Given the description of an element on the screen output the (x, y) to click on. 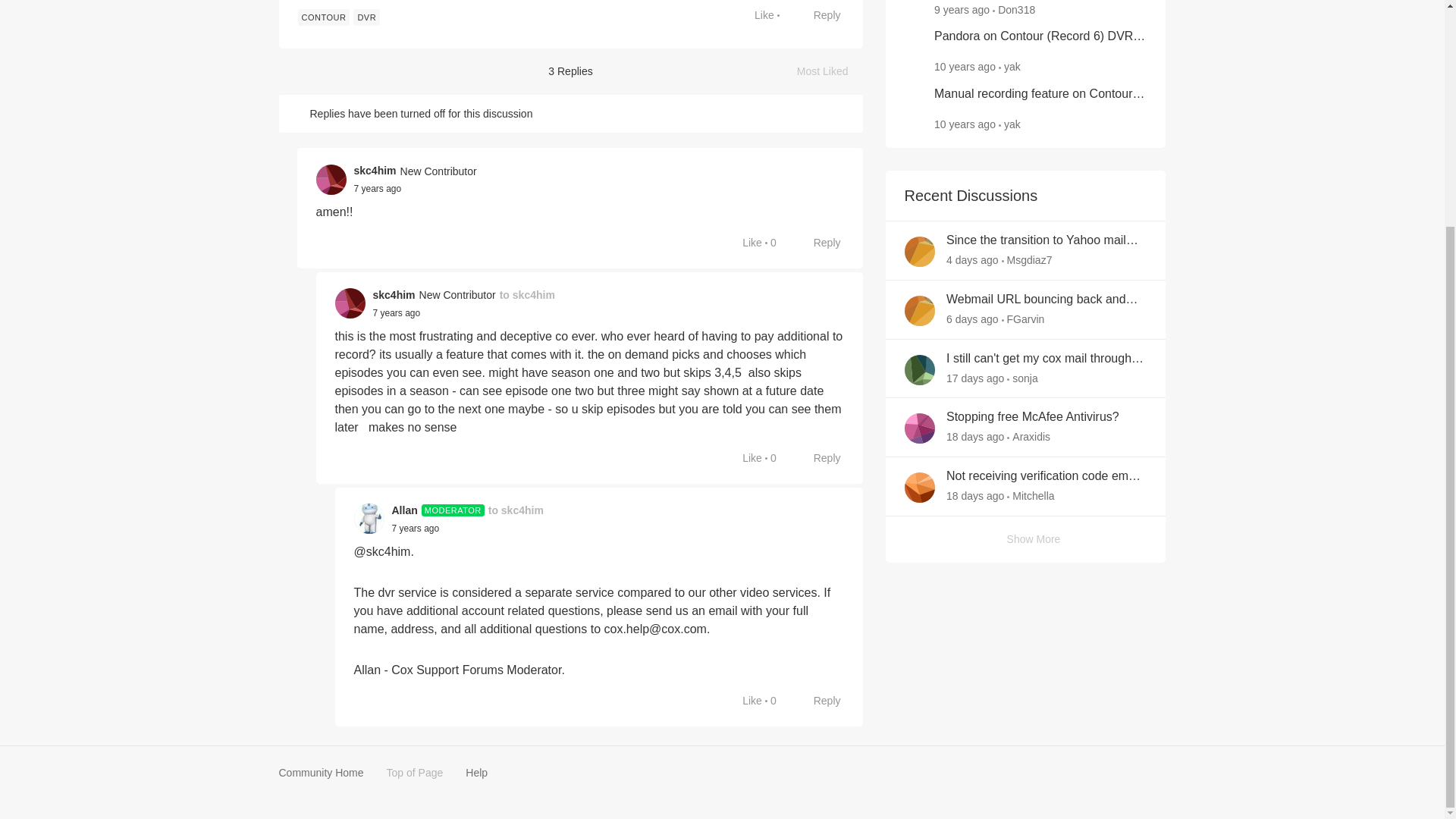
Like (744, 242)
Webmail URL bouncing back and forth (1046, 299)
July 19, 2018 at 12:20 PM (377, 188)
DVR (366, 17)
Manual recording feature on Contour Record 6 is balky. (1040, 94)
July 25, 2024 at 1:46 AM (972, 318)
7 years ago (829, 71)
Reply (377, 188)
July 27, 2024 at 1:18 AM (819, 14)
December 5, 2014 at 5:23 PM (972, 259)
skc4him (964, 66)
March 14, 2015 at 12:58 AM (393, 295)
CONTOUR (964, 123)
